Given the description of an element on the screen output the (x, y) to click on. 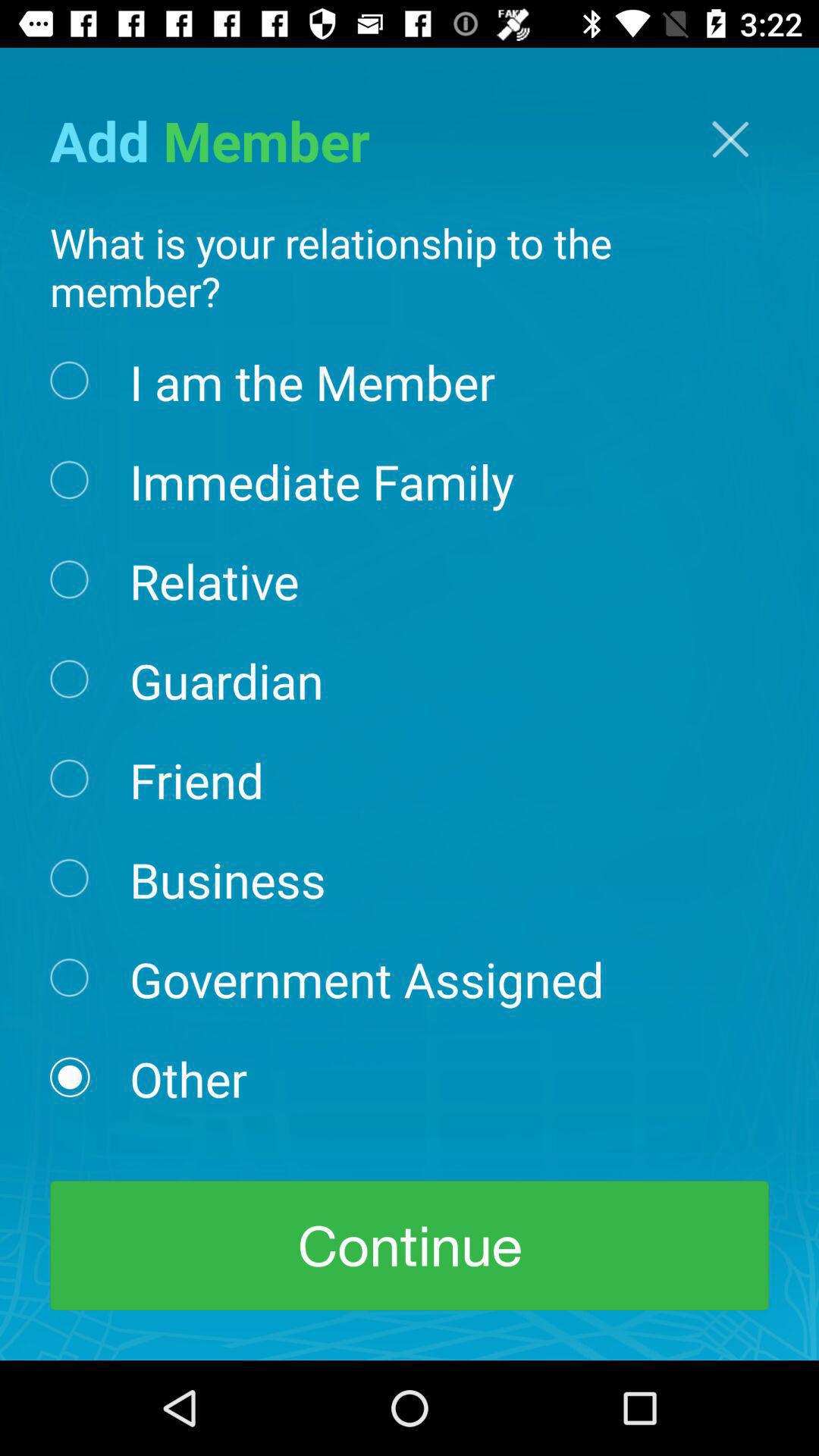
tap the icon above what is your (730, 139)
